Given the description of an element on the screen output the (x, y) to click on. 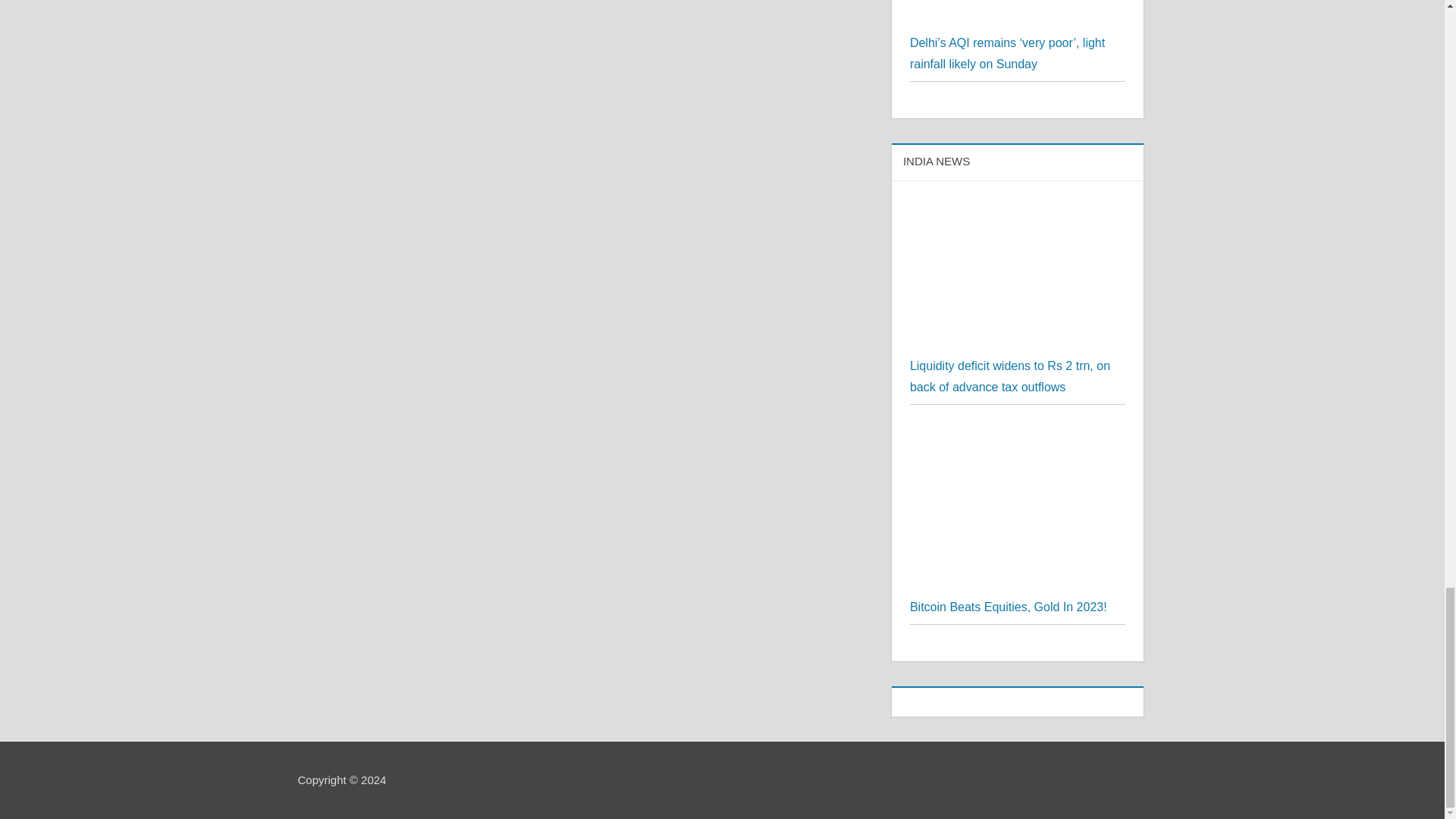
Bitcoin Beats Equities, Gold In 2023! (1008, 606)
Bitcoin Beats Equities, Gold In 2023! (1017, 432)
